Given the description of an element on the screen output the (x, y) to click on. 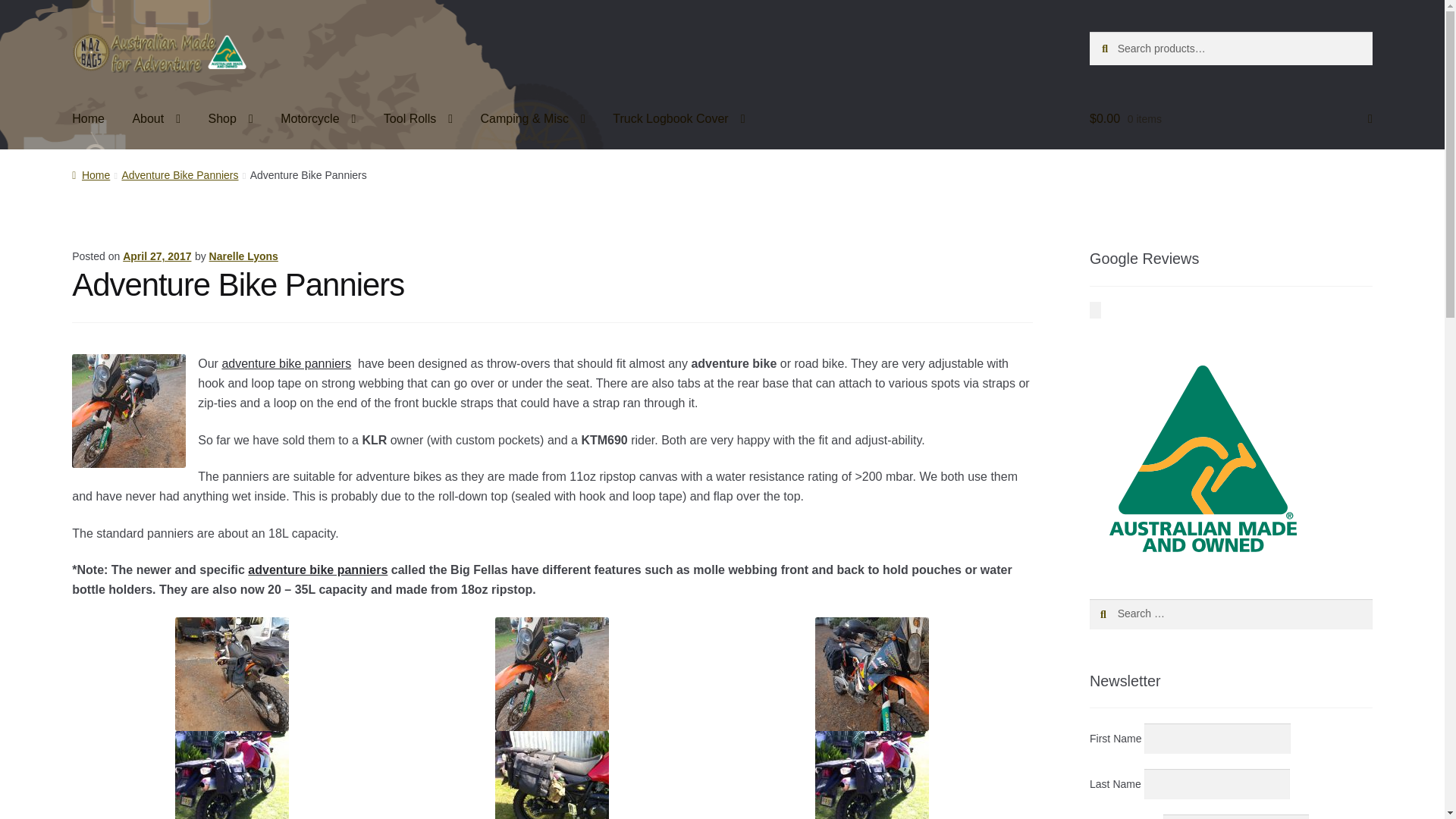
Shop (229, 118)
Home (87, 118)
About (155, 118)
View your shopping cart (1231, 118)
Motorcycle (317, 118)
